Given the description of an element on the screen output the (x, y) to click on. 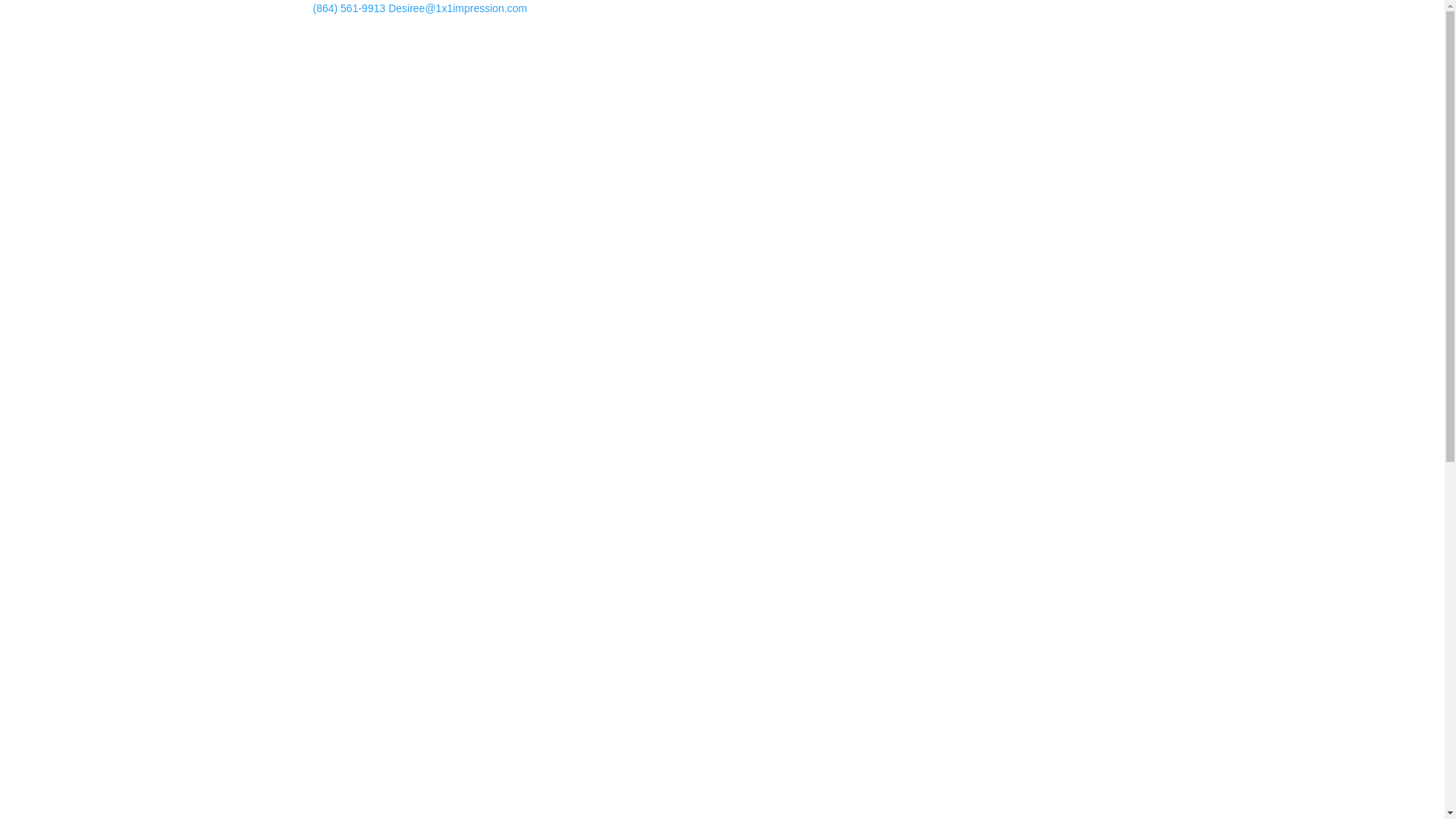
Desiree@1x1impression.com Element type: text (457, 8)
